Given the description of an element on the screen output the (x, y) to click on. 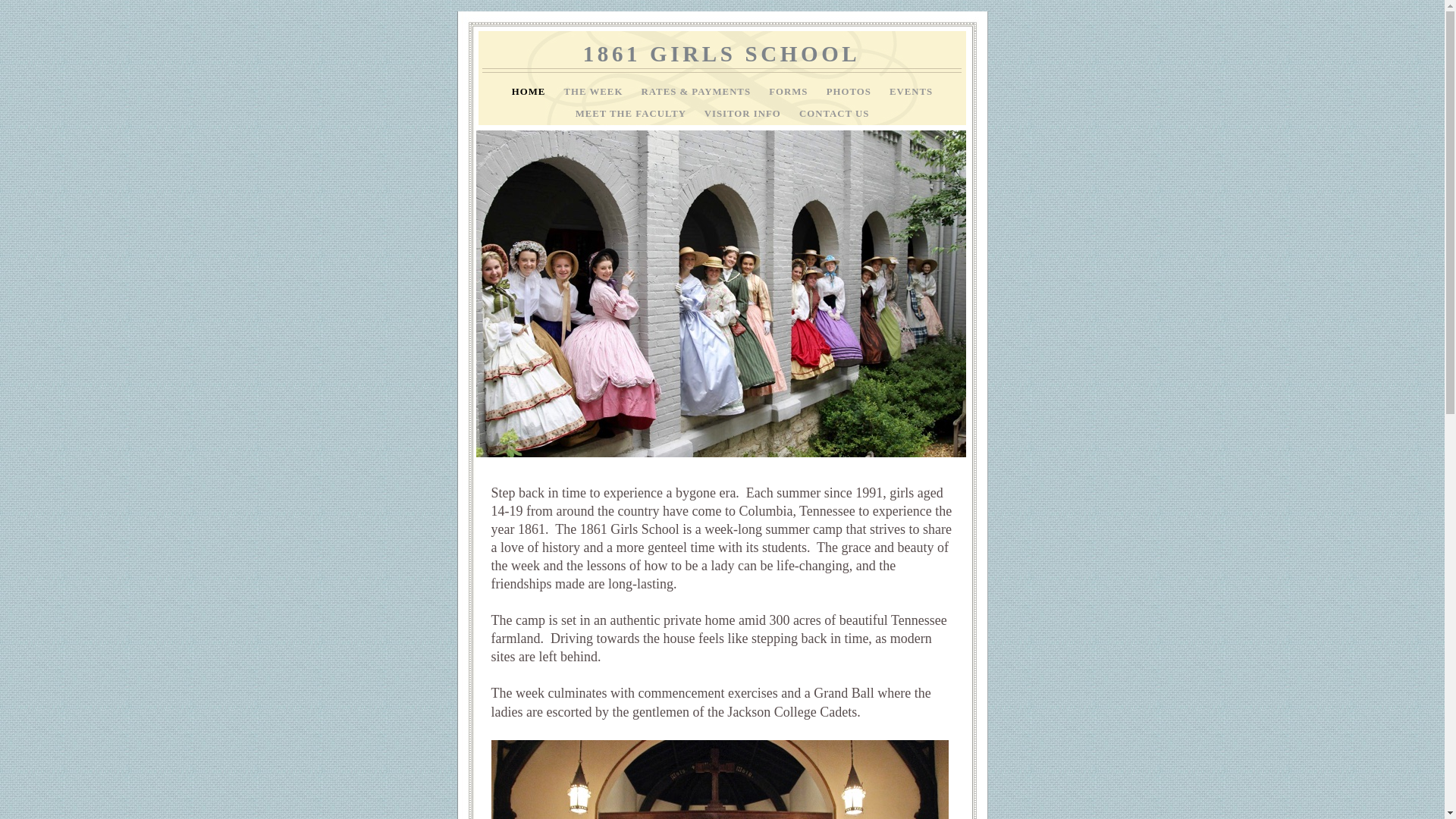
VISITOR INFO Element type: text (744, 113)
FORMS Element type: text (789, 91)
MEET THE FACULTY Element type: text (632, 113)
EVENTS Element type: text (910, 91)
PHOTOS Element type: text (850, 91)
CONTACT US Element type: text (834, 113)
THE WEEK Element type: text (595, 91)
HOME Element type: text (530, 91)
RATES & PAYMENTS Element type: text (697, 91)
